Given the description of an element on the screen output the (x, y) to click on. 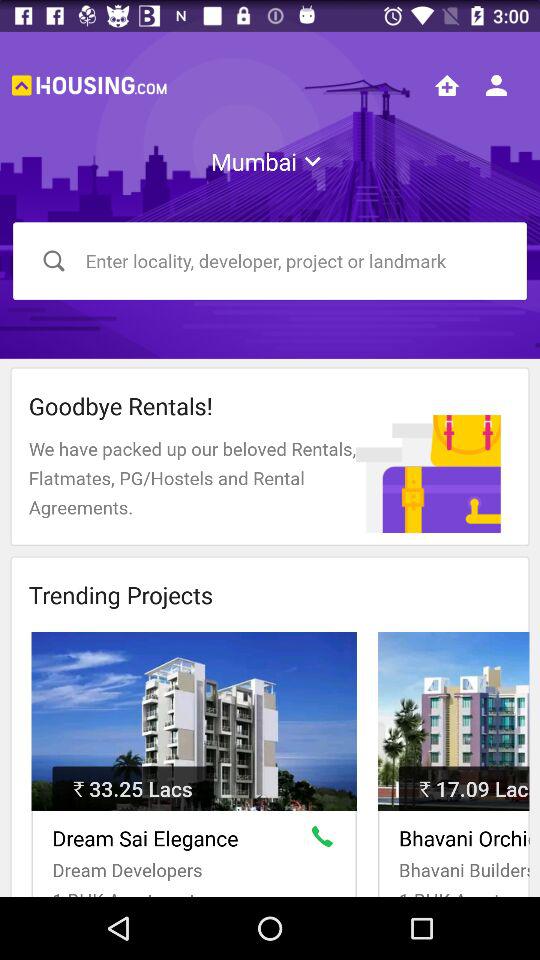
turn on the icon to the right of the dream sai elegance (326, 840)
